Given the description of an element on the screen output the (x, y) to click on. 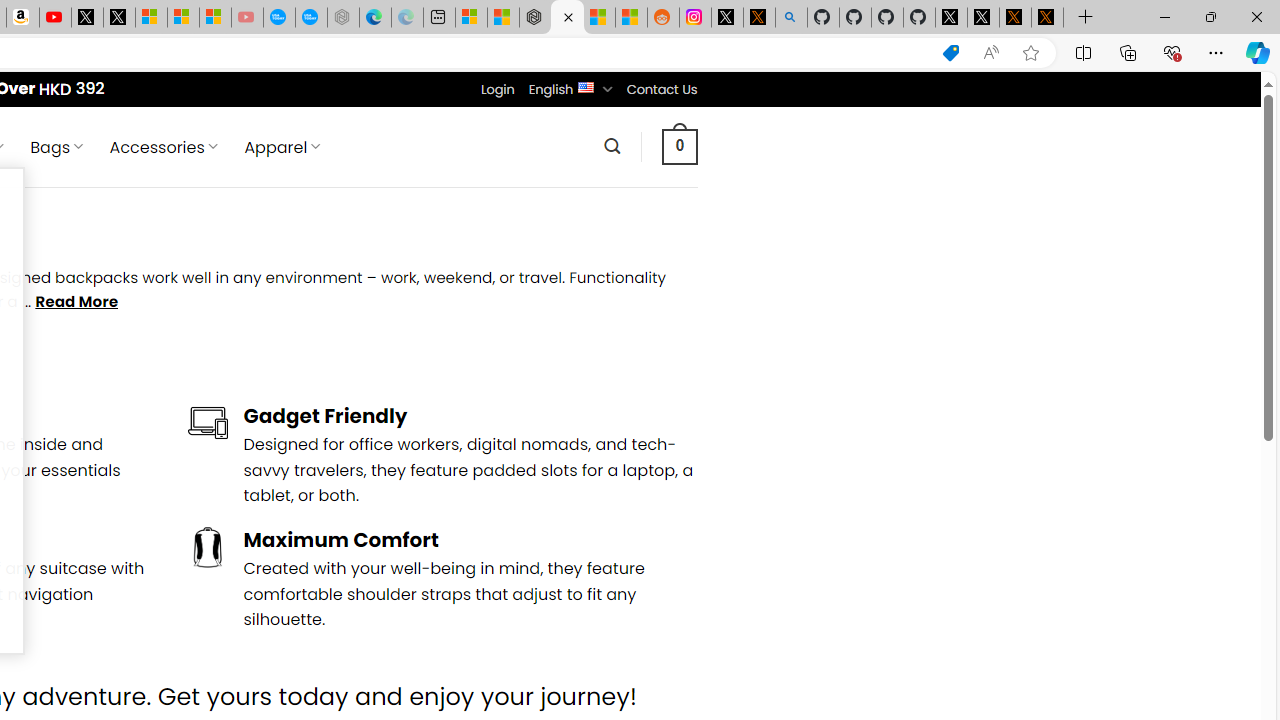
Read More (76, 301)
The most popular Google 'how to' searches (310, 17)
Log in to X / X (727, 17)
Shanghai, China Weather trends | Microsoft Weather (630, 17)
GitHub (@github) / X (983, 17)
Microsoft account | Microsoft Account Privacy Settings (471, 17)
New Tab (1085, 17)
Profile / X (950, 17)
Close (1256, 16)
